Given the description of an element on the screen output the (x, y) to click on. 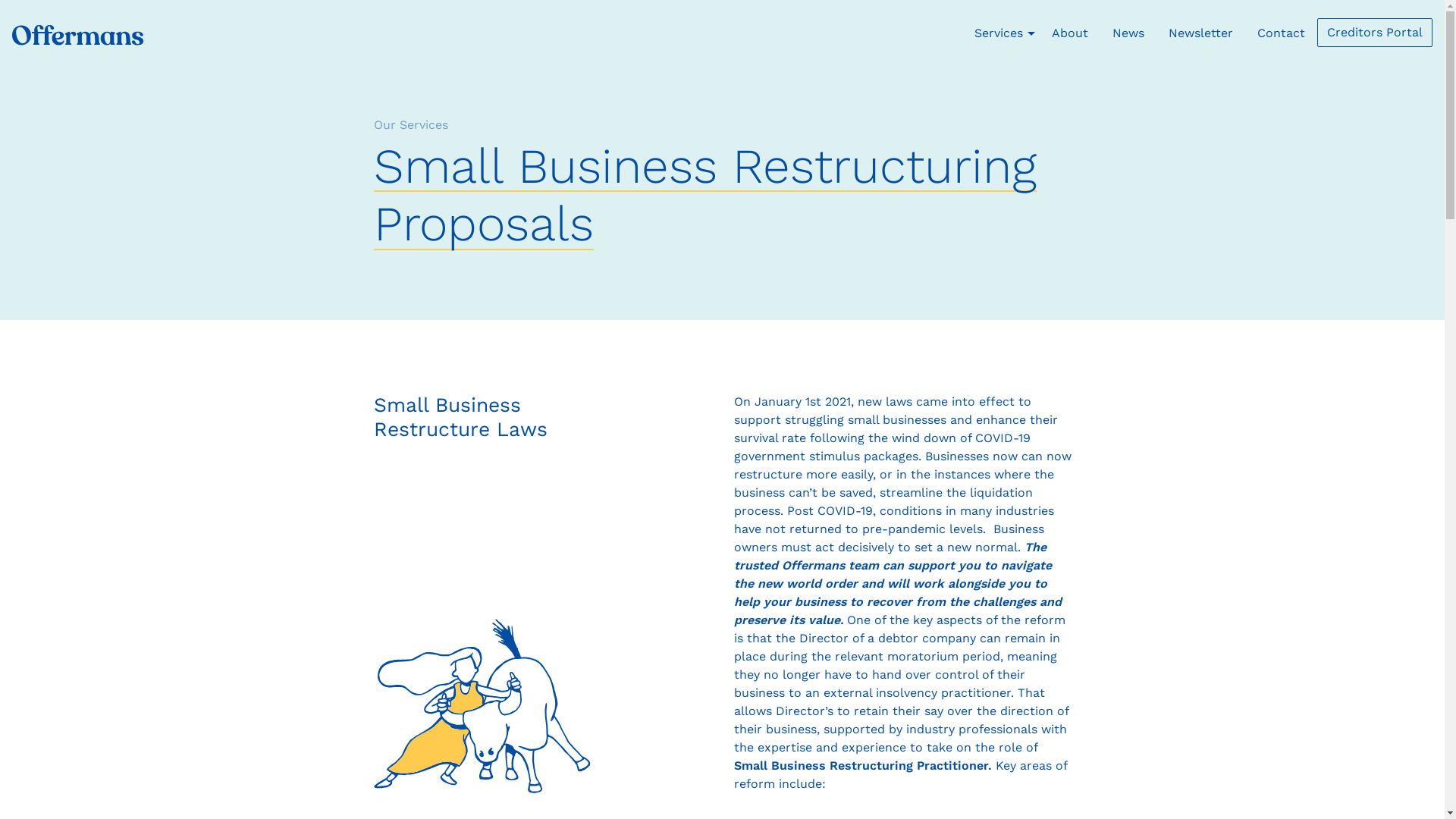
About Element type: text (1069, 33)
Services Element type: text (998, 33)
Newsletter Element type: text (1200, 33)
News Element type: text (1128, 33)
Creditors Portal Element type: text (1374, 32)
Contact Element type: text (1281, 33)
